Given the description of an element on the screen output the (x, y) to click on. 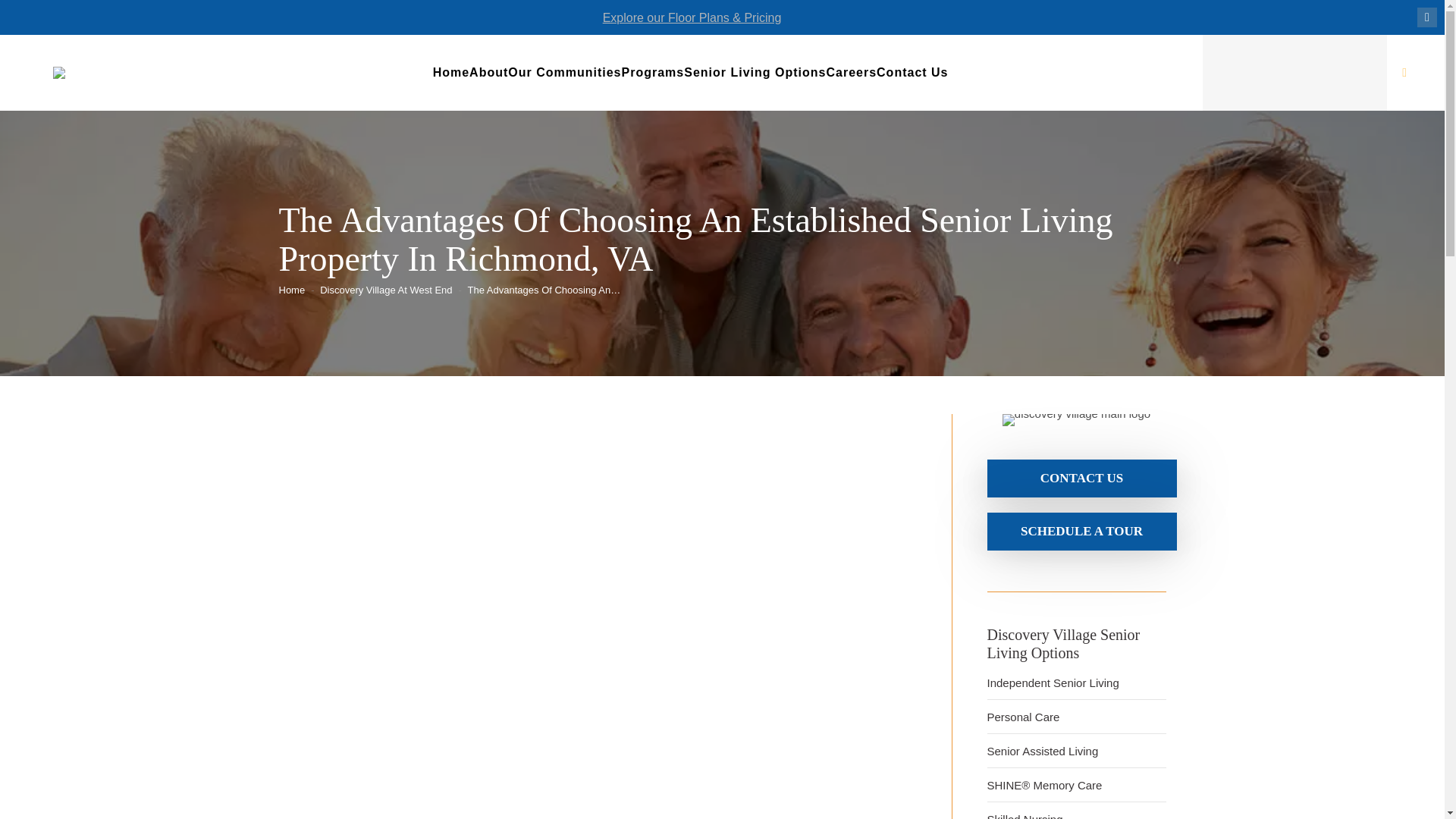
Facebook page opens in new window (1426, 17)
Our Communities (564, 72)
Senior Living Options (754, 72)
Contact Discovery Village (1081, 530)
Contact Discovery Village (1081, 477)
Discovery Village Main Logo (1076, 419)
Facebook page opens in new window (1426, 17)
